Given the description of an element on the screen output the (x, y) to click on. 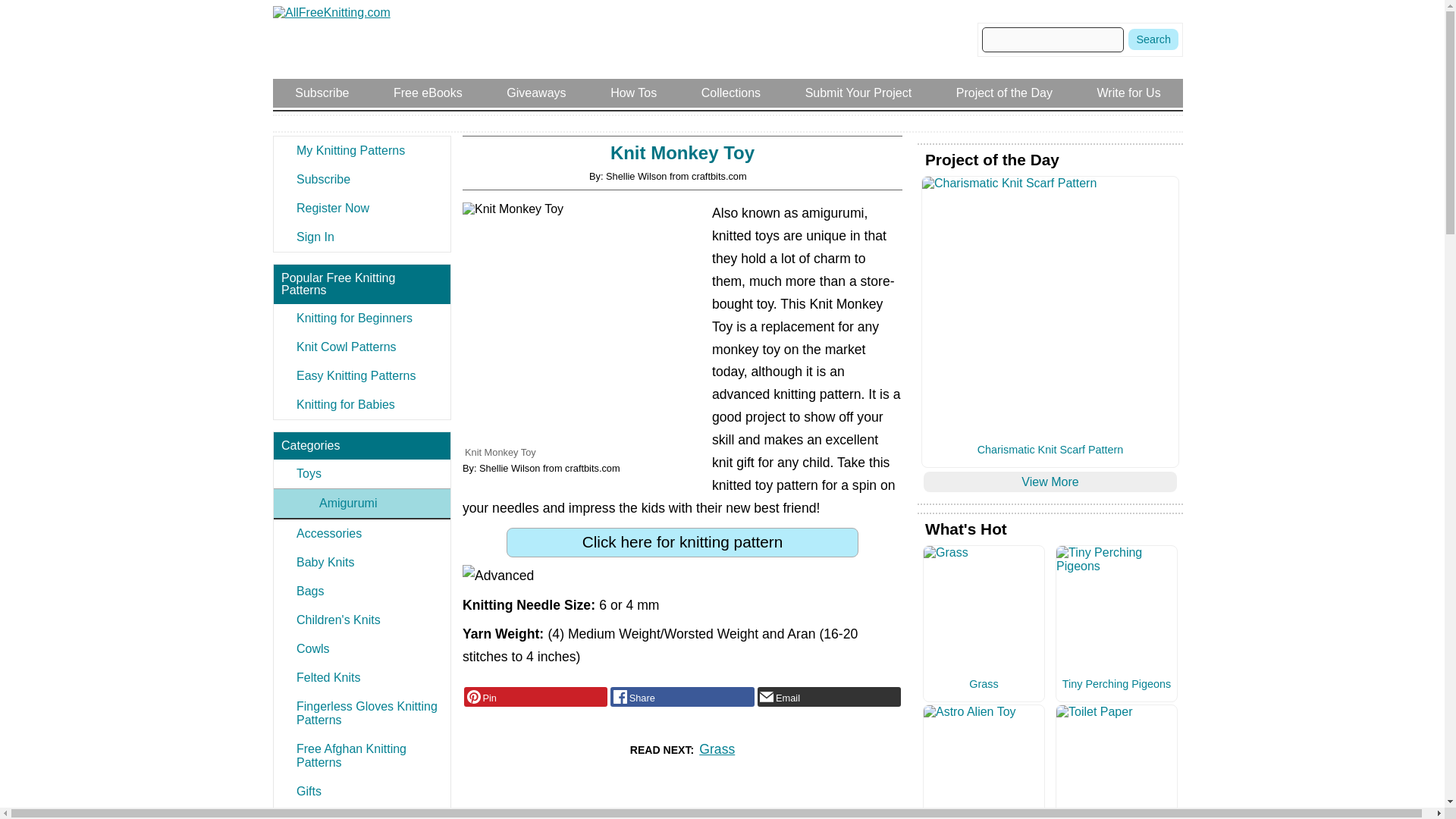
Sign In (361, 236)
Subscribe (361, 179)
Register Now (361, 208)
Search (1152, 38)
My Knitting Patterns (361, 150)
Email (829, 696)
Knit Monkey Toy (583, 323)
Facebook (682, 696)
